Given the description of an element on the screen output the (x, y) to click on. 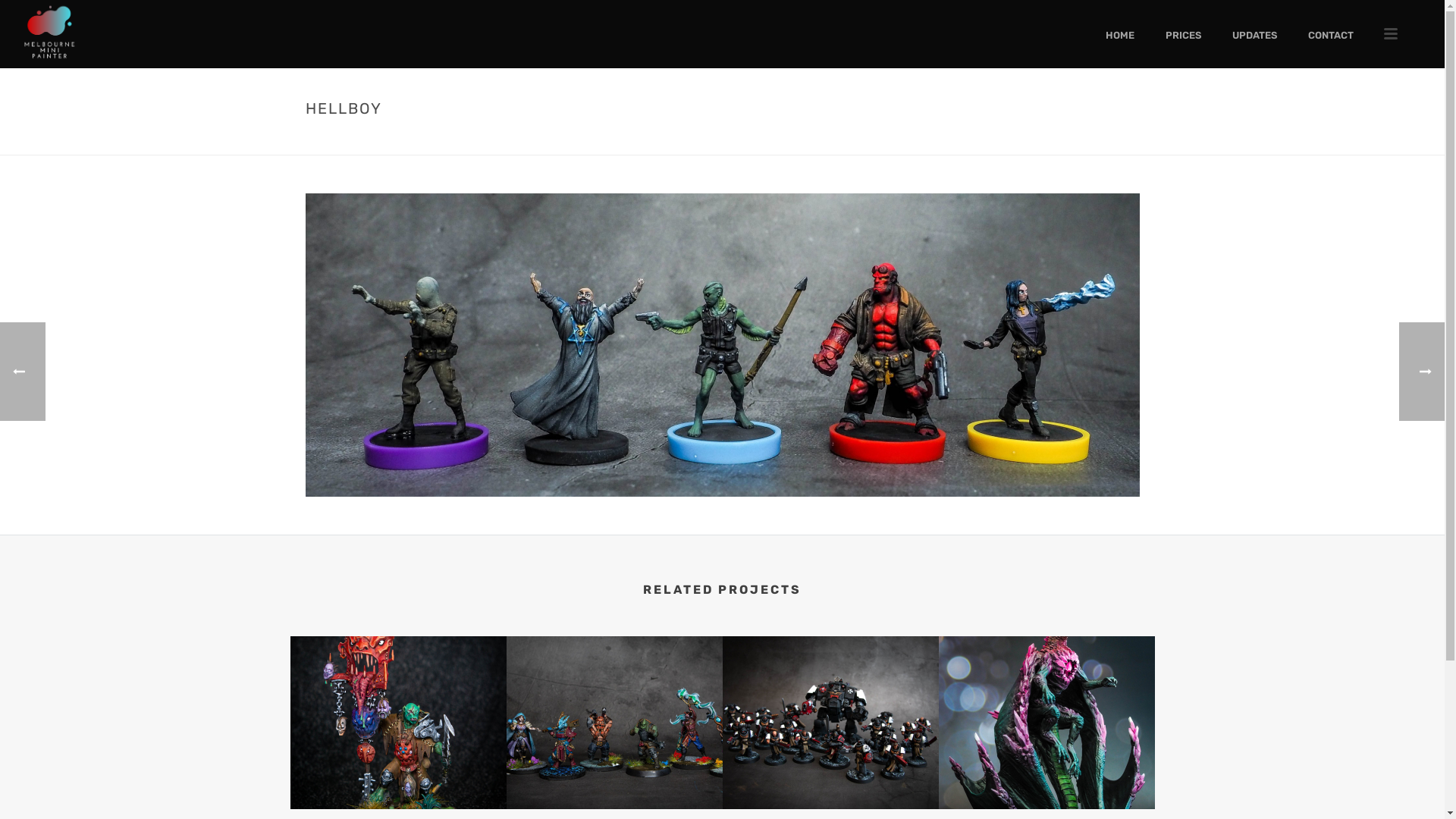
BASIC TABLETOP Element type: text (974, 139)
Black Templar Dreadnought Element type: hover (829, 722)
Hellboy Element type: hover (721, 344)
D&D party Element type: hover (614, 722)
Hellboy Element type: hover (721, 344)
Belcha Banna Element type: hover (397, 722)
HOME Element type: text (915, 139)
HOME Element type: text (1119, 34)
UPDATES Element type: text (1254, 34)
PRICES Element type: text (1183, 34)
CONTACT Element type: text (1330, 34)
Cthrion Uroniziir Crystal Dragon Element type: hover (1046, 722)
BOARDGAMES Element type: text (1050, 139)
Detail and Precision Element type: hover (49, 34)
